Given the description of an element on the screen output the (x, y) to click on. 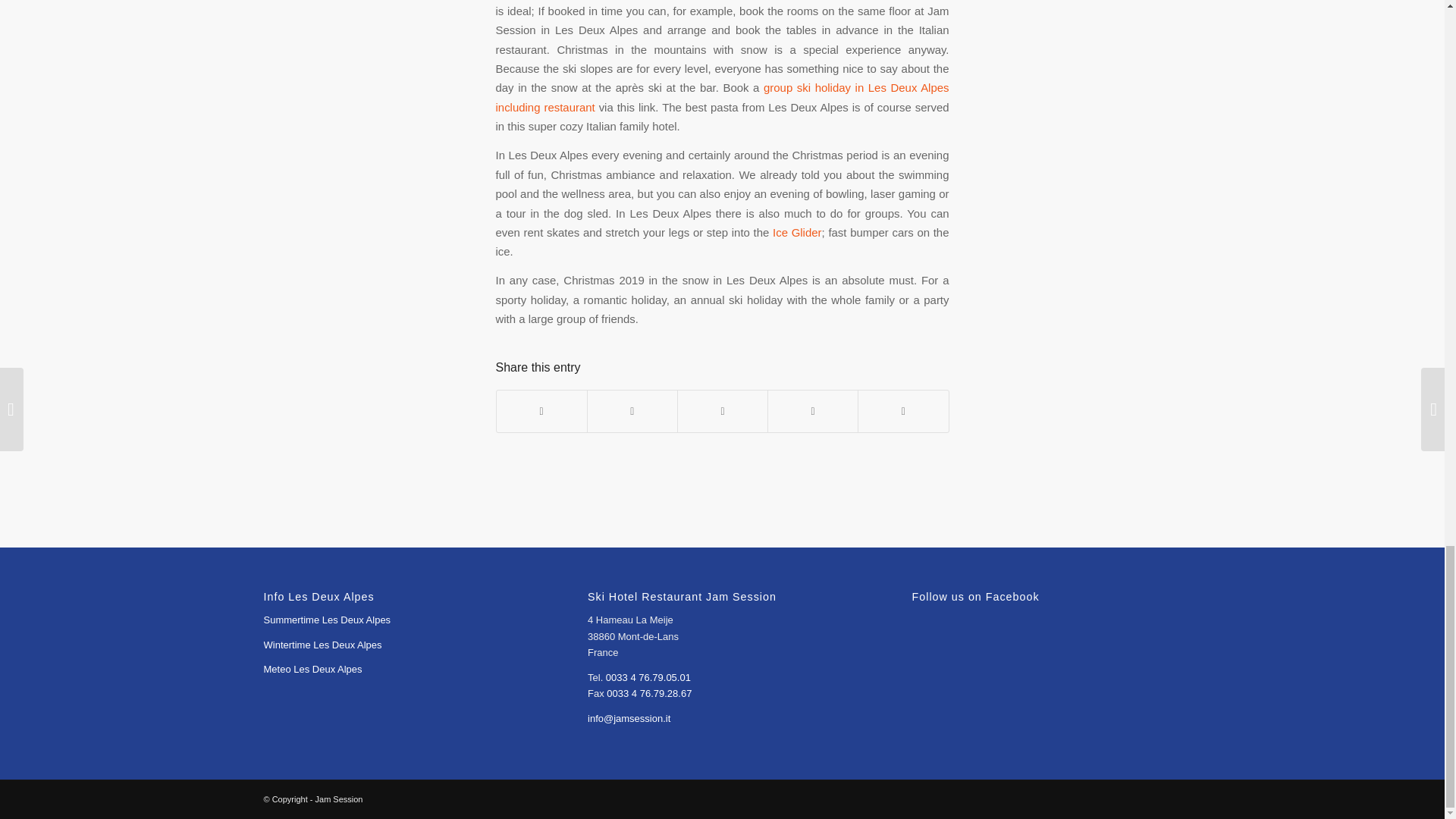
Meteo Les Deux Alpes (312, 668)
Wintertime Les Deux Alpes (322, 644)
Summertime Les Deux Alpes (327, 619)
group ski holiday in Les Deux Alpes including restaurant (722, 97)
Ice Glider (797, 232)
